Given the description of an element on the screen output the (x, y) to click on. 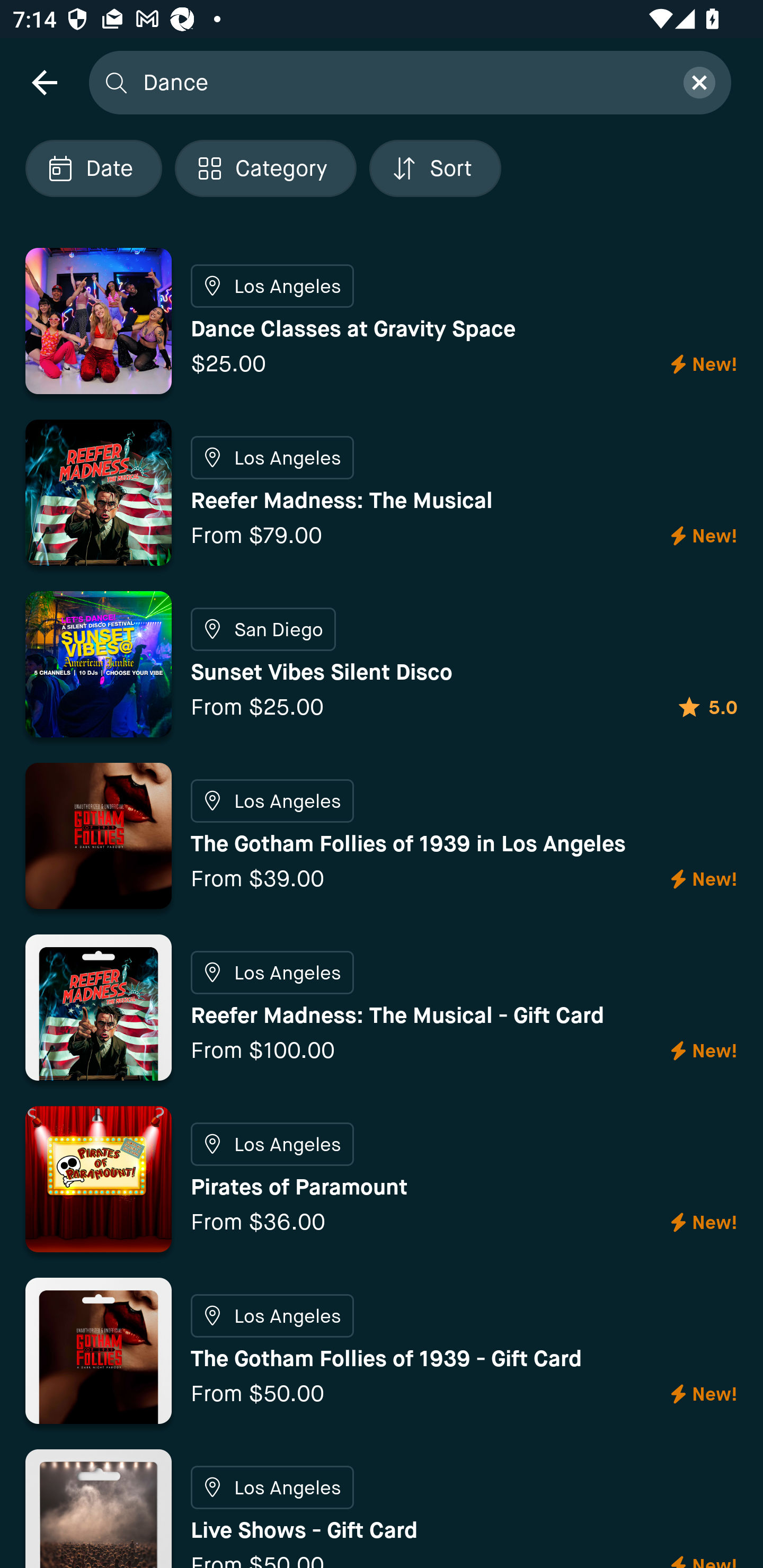
navigation icon (44, 81)
Dance (402, 81)
Localized description Date (93, 168)
Localized description Category (265, 168)
Localized description Sort (435, 168)
